Given the description of an element on the screen output the (x, y) to click on. 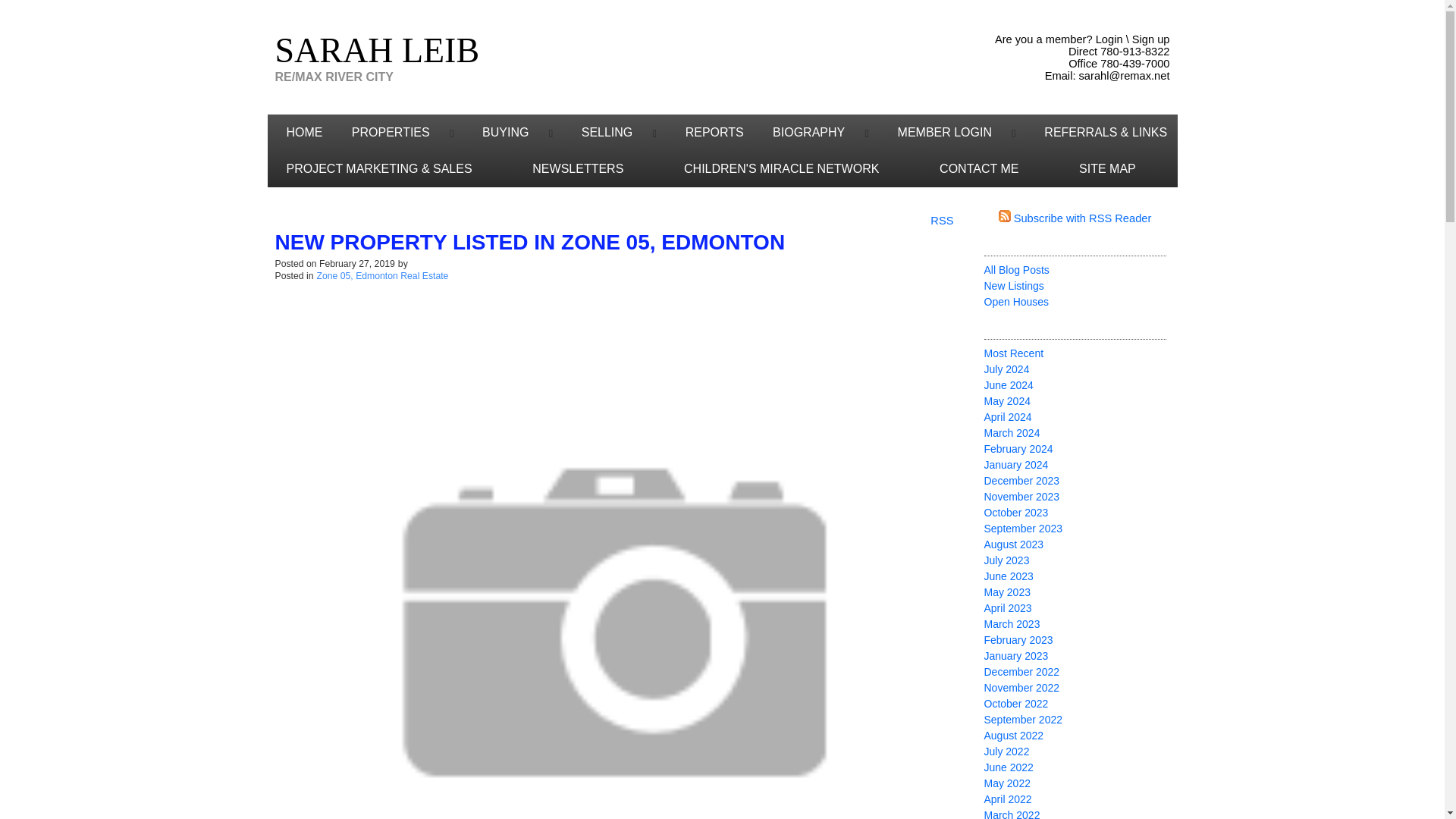
January 2024 (1016, 464)
Open Houses (1016, 301)
Login (1109, 39)
SITE MAP (1117, 168)
July 2024 (1006, 369)
May 2024 (1007, 400)
June 2024 (1008, 385)
REPORTS (710, 132)
Sign up (1151, 39)
CONTACT ME (989, 168)
PROPERTIES (383, 132)
April 2024 (1008, 417)
SELLING (599, 132)
BUYING (497, 132)
BIOGRAPHY (801, 132)
